Given the description of an element on the screen output the (x, y) to click on. 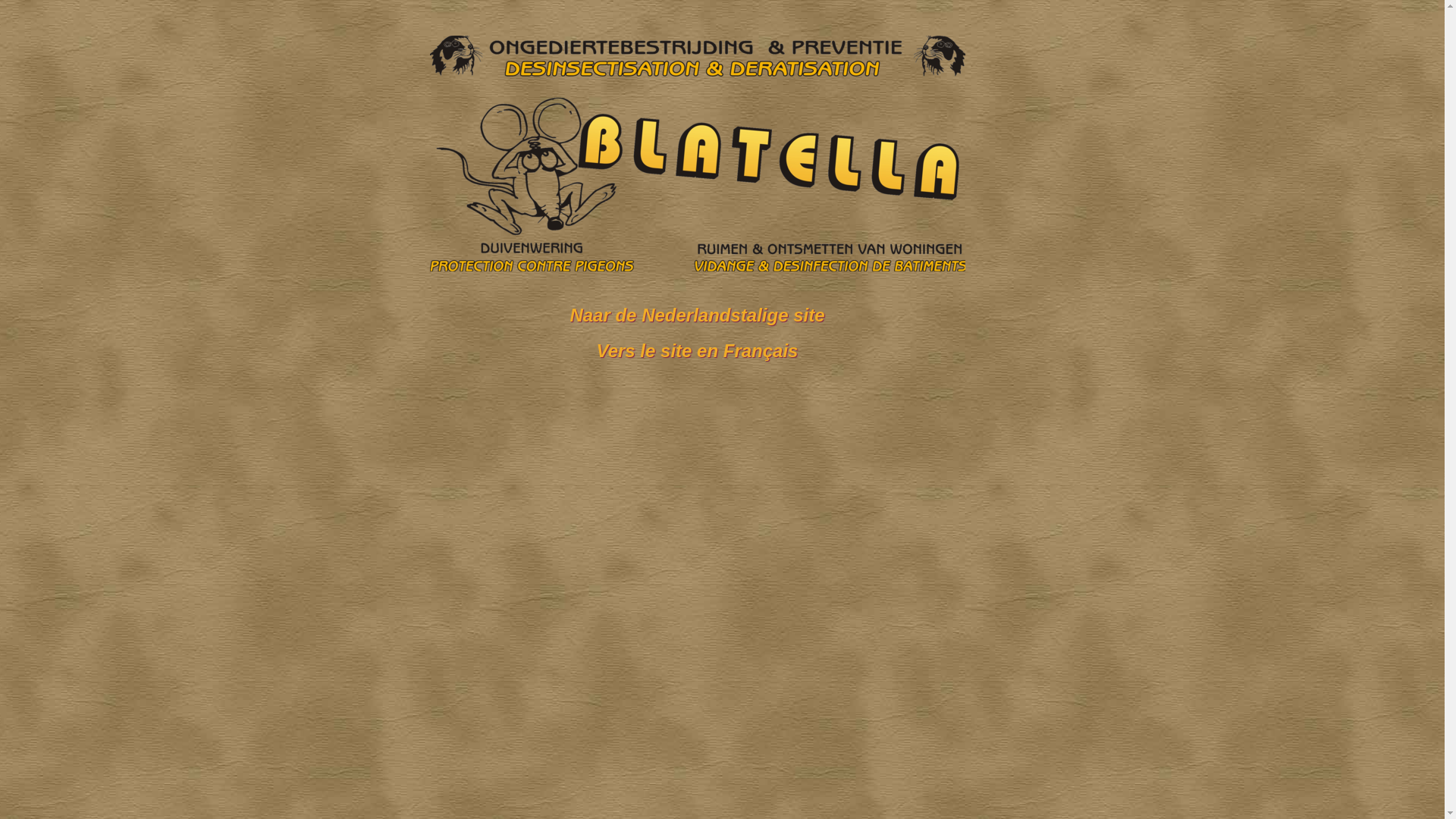
Naar de Nederlandstalige site Element type: text (696, 314)
